Given the description of an element on the screen output the (x, y) to click on. 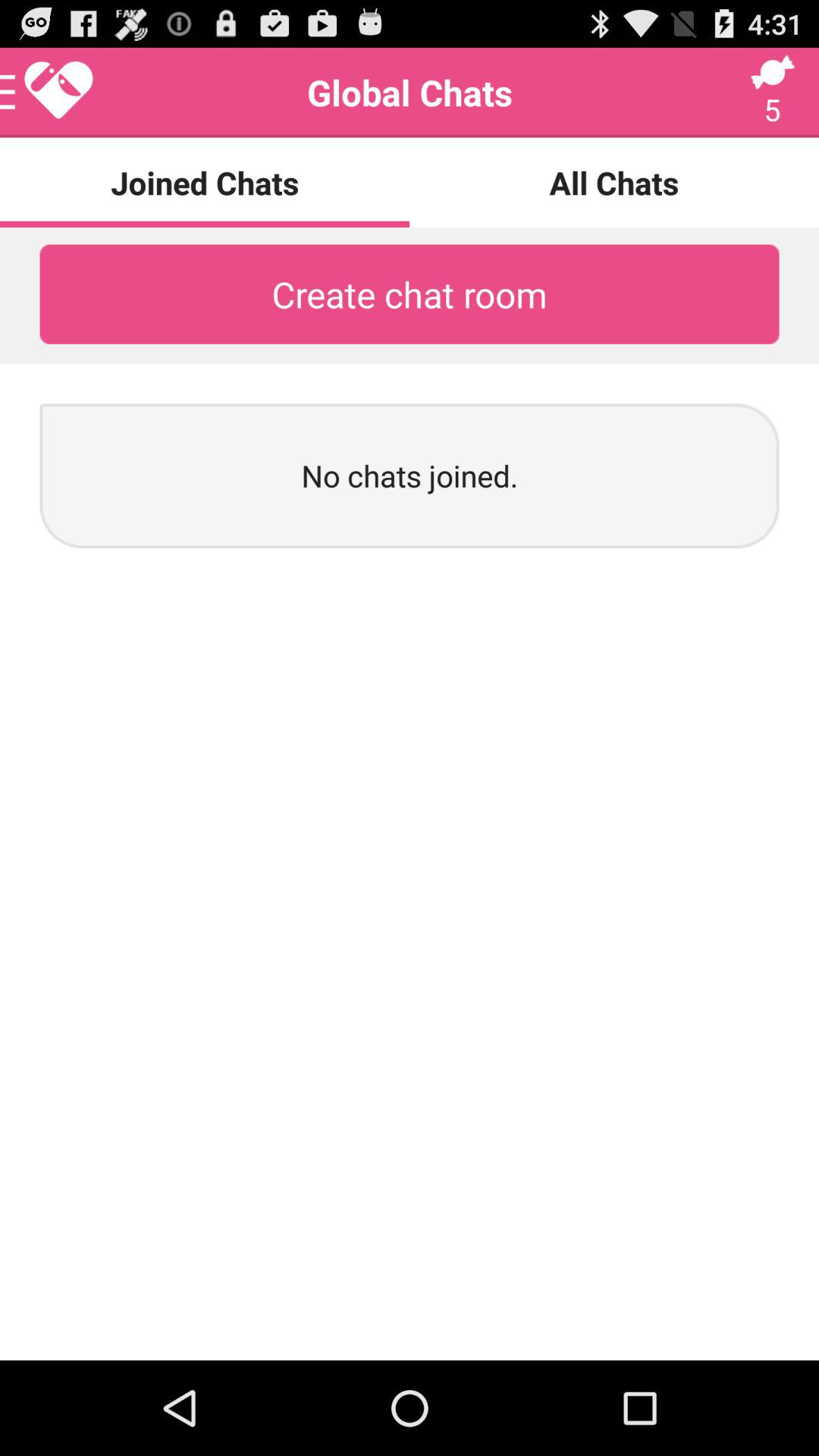
select the icon above no chats joined. icon (409, 294)
